Given the description of an element on the screen output the (x, y) to click on. 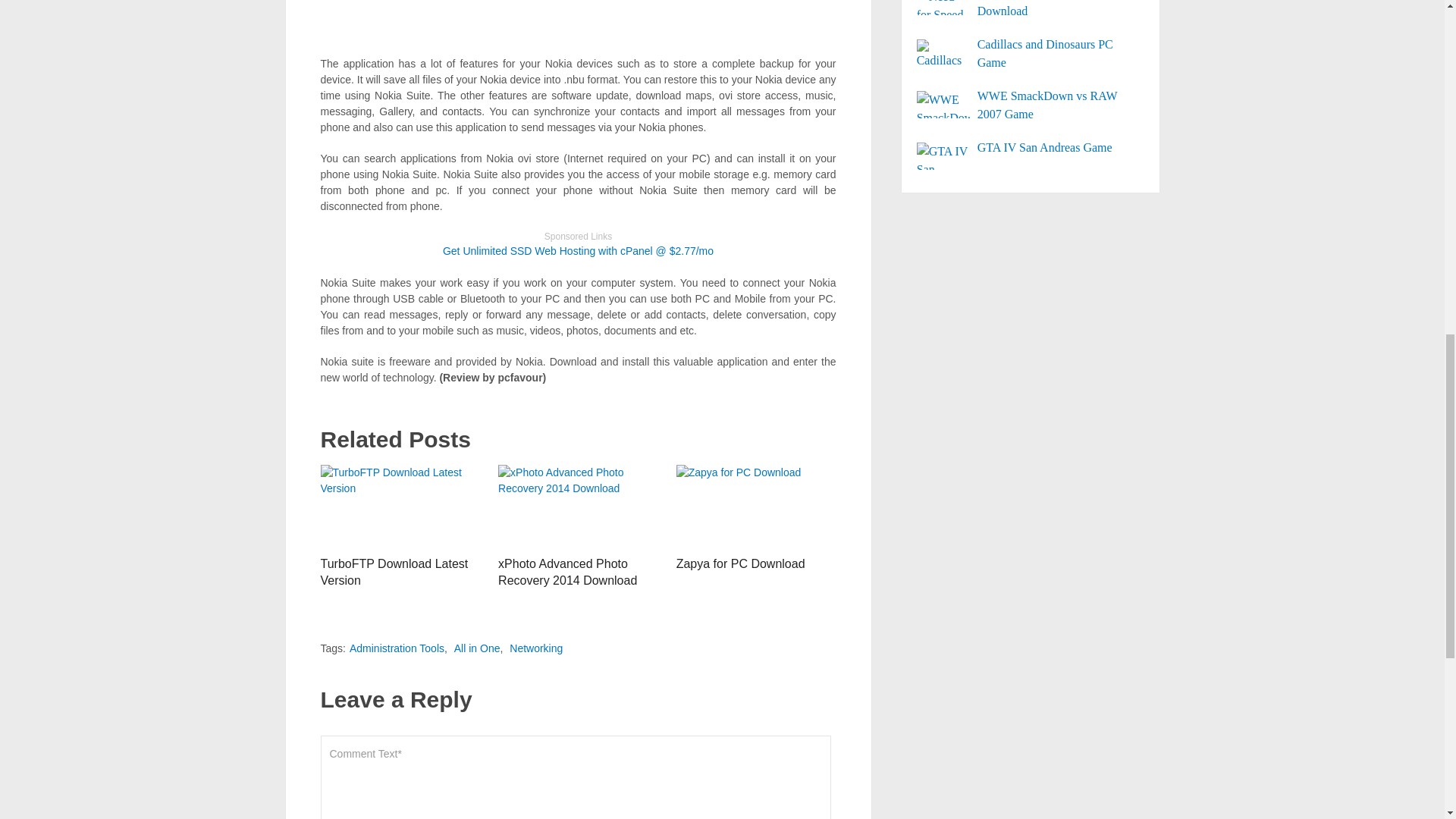
xPhoto Advanced Photo Recovery 2014 Download (577, 506)
TurboFTP Download Latest Version (393, 572)
TurboFTP Download Latest Version (393, 572)
TurboFTP Download Latest Version (400, 506)
Zapya for PC Download (756, 506)
Zapya for PC Download (741, 563)
xPhoto Advanced Photo Recovery 2014 Download (567, 572)
